Given the description of an element on the screen output the (x, y) to click on. 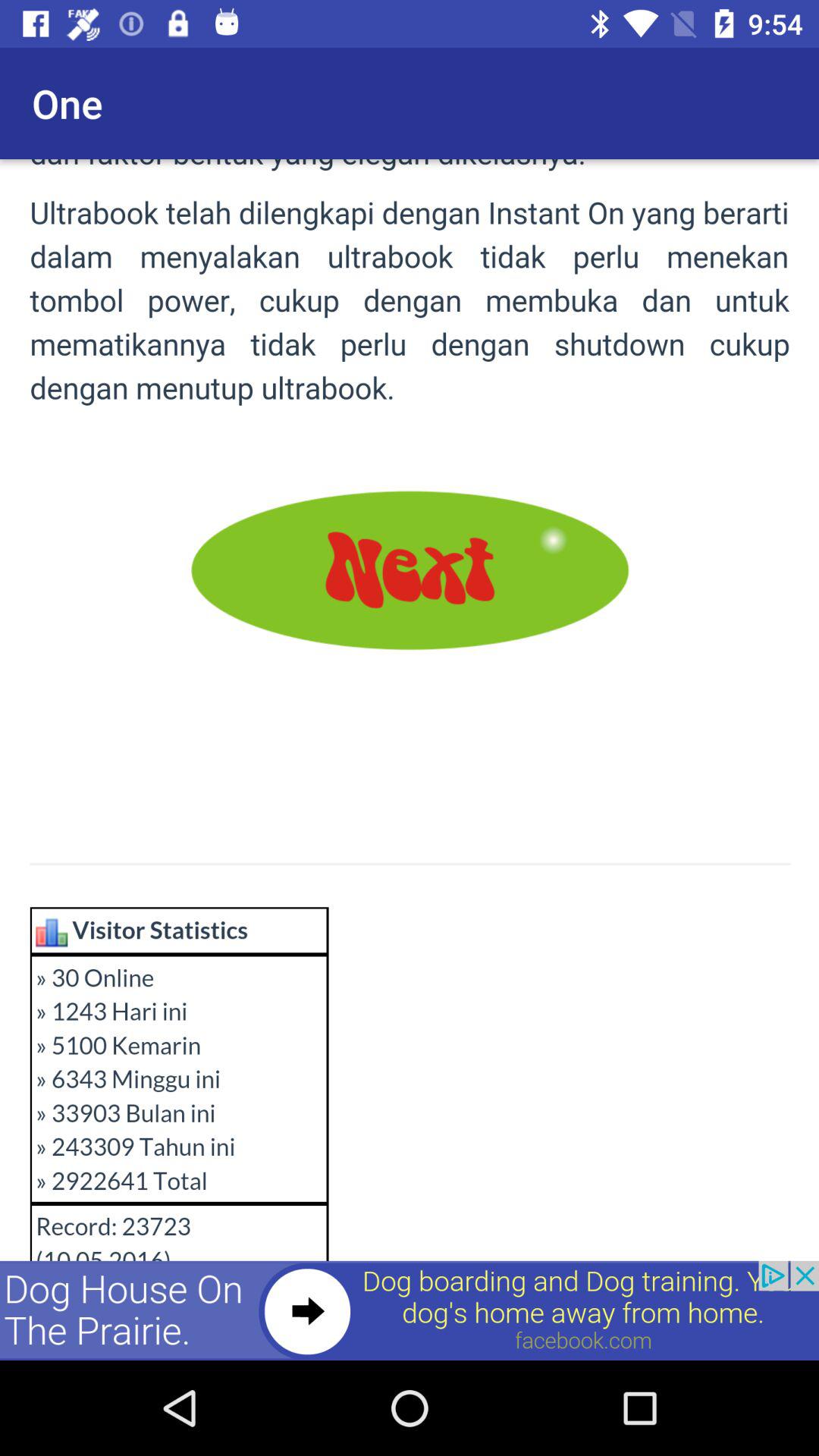
advertisement link (409, 1310)
